Given the description of an element on the screen output the (x, y) to click on. 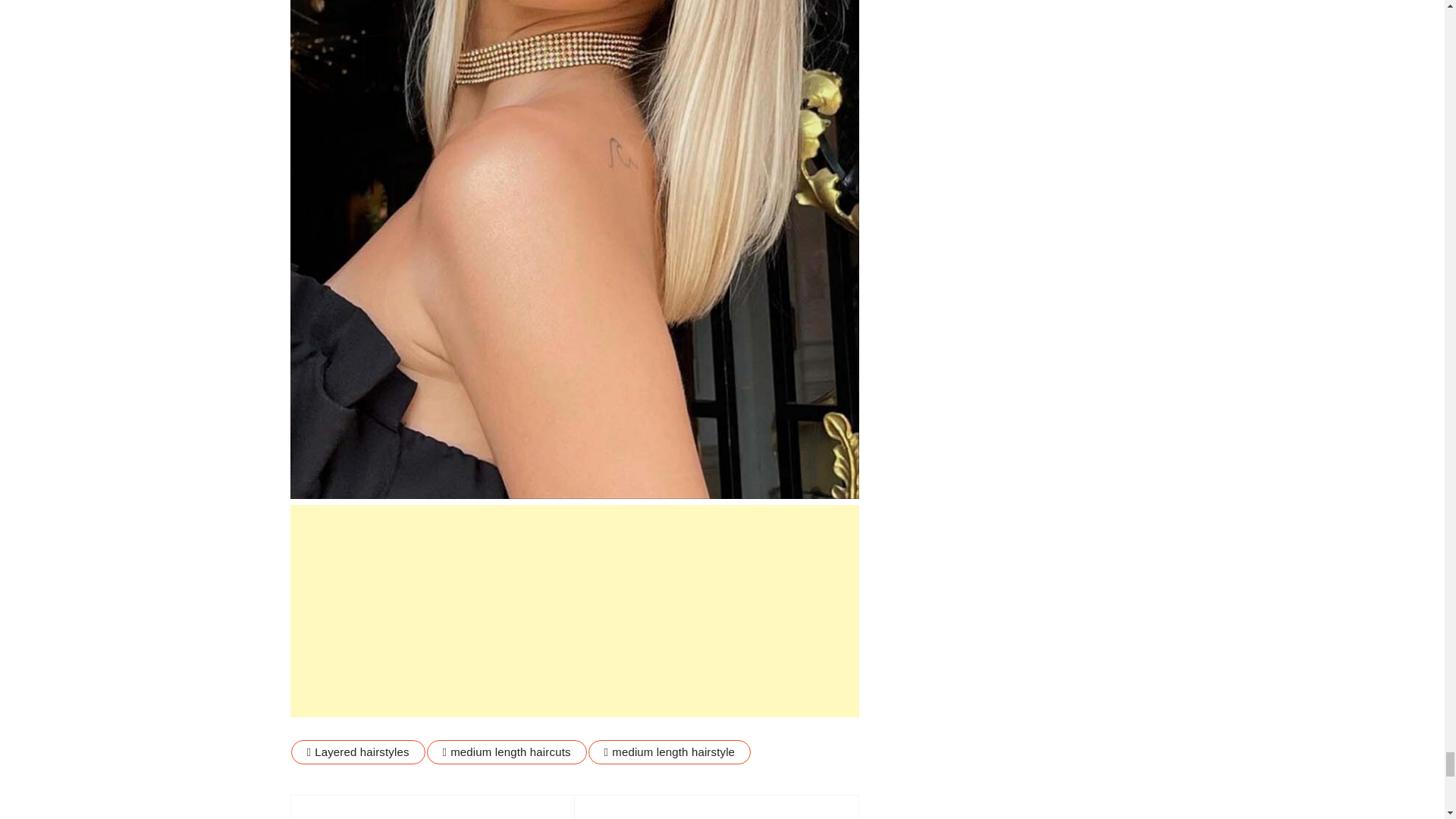
Layered hairstyles (358, 752)
medium length hairstyle (669, 752)
medium length haircuts (506, 752)
